Given the description of an element on the screen output the (x, y) to click on. 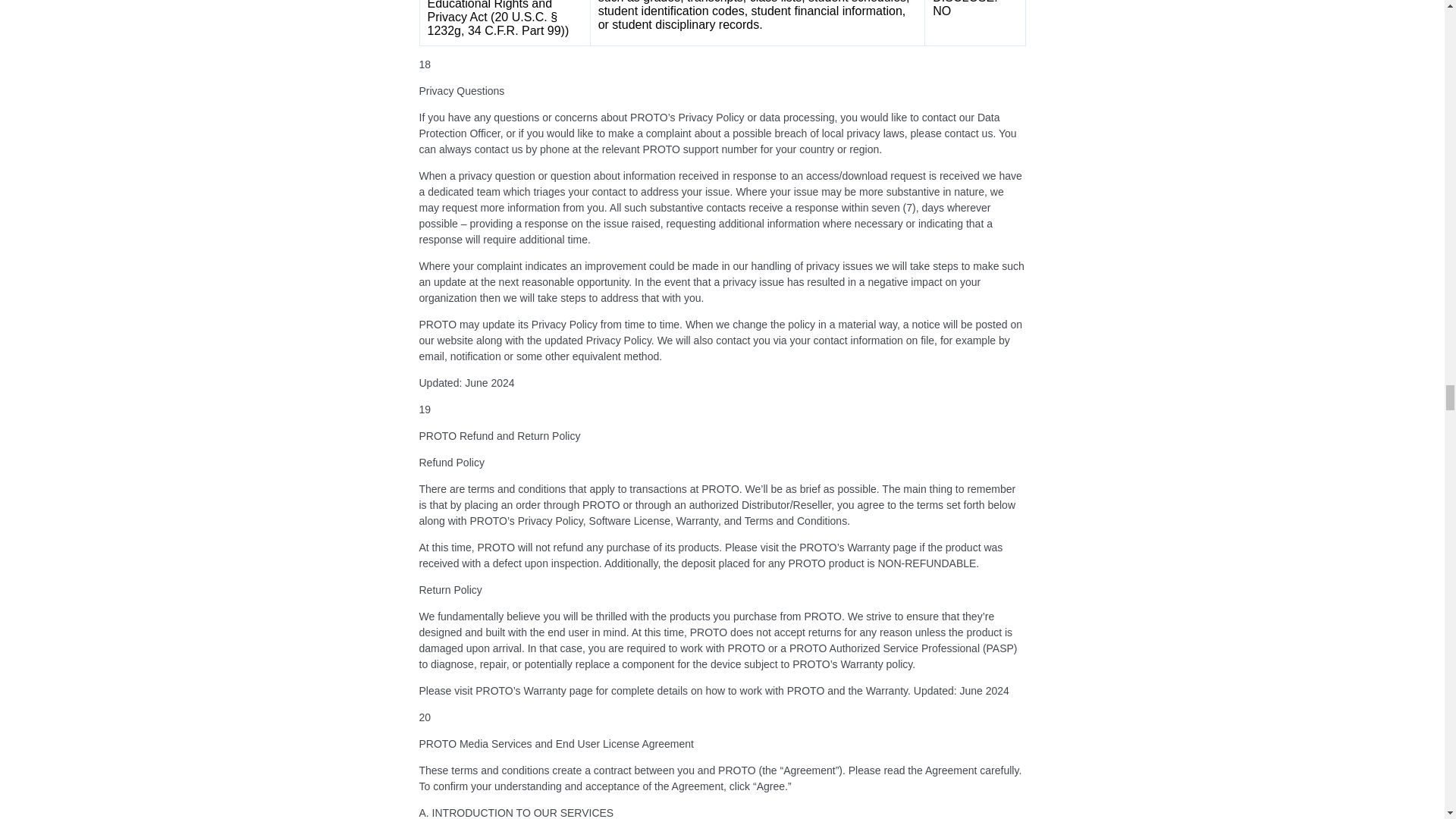
Page 18 (722, 36)
